Given the description of an element on the screen output the (x, y) to click on. 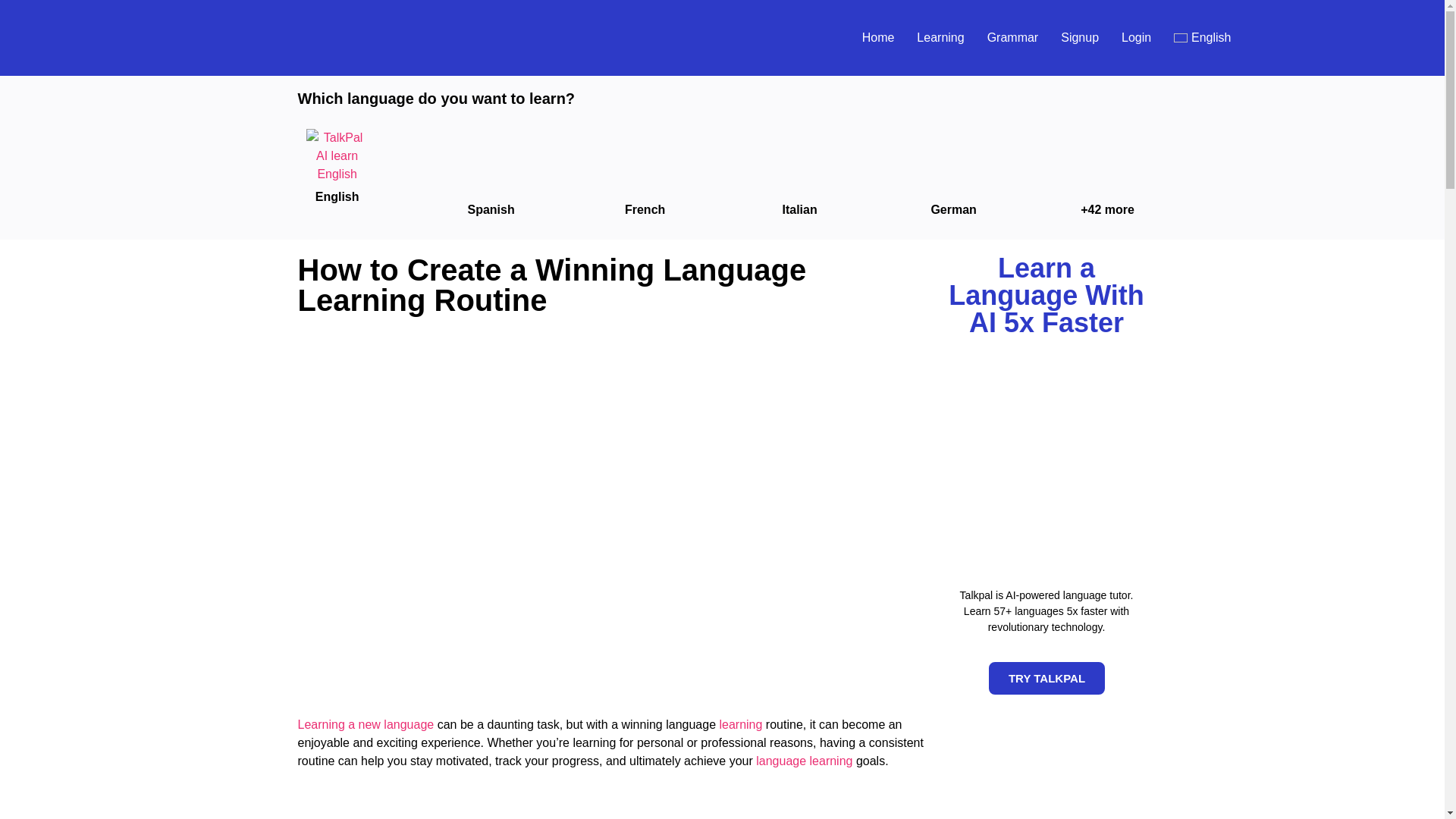
German (952, 209)
Signup (1080, 37)
Login (1136, 37)
Grammar (1013, 37)
Italian (798, 209)
French (644, 209)
Learning (940, 37)
English (1201, 37)
Spanish (490, 209)
Home (878, 37)
